Given the description of an element on the screen output the (x, y) to click on. 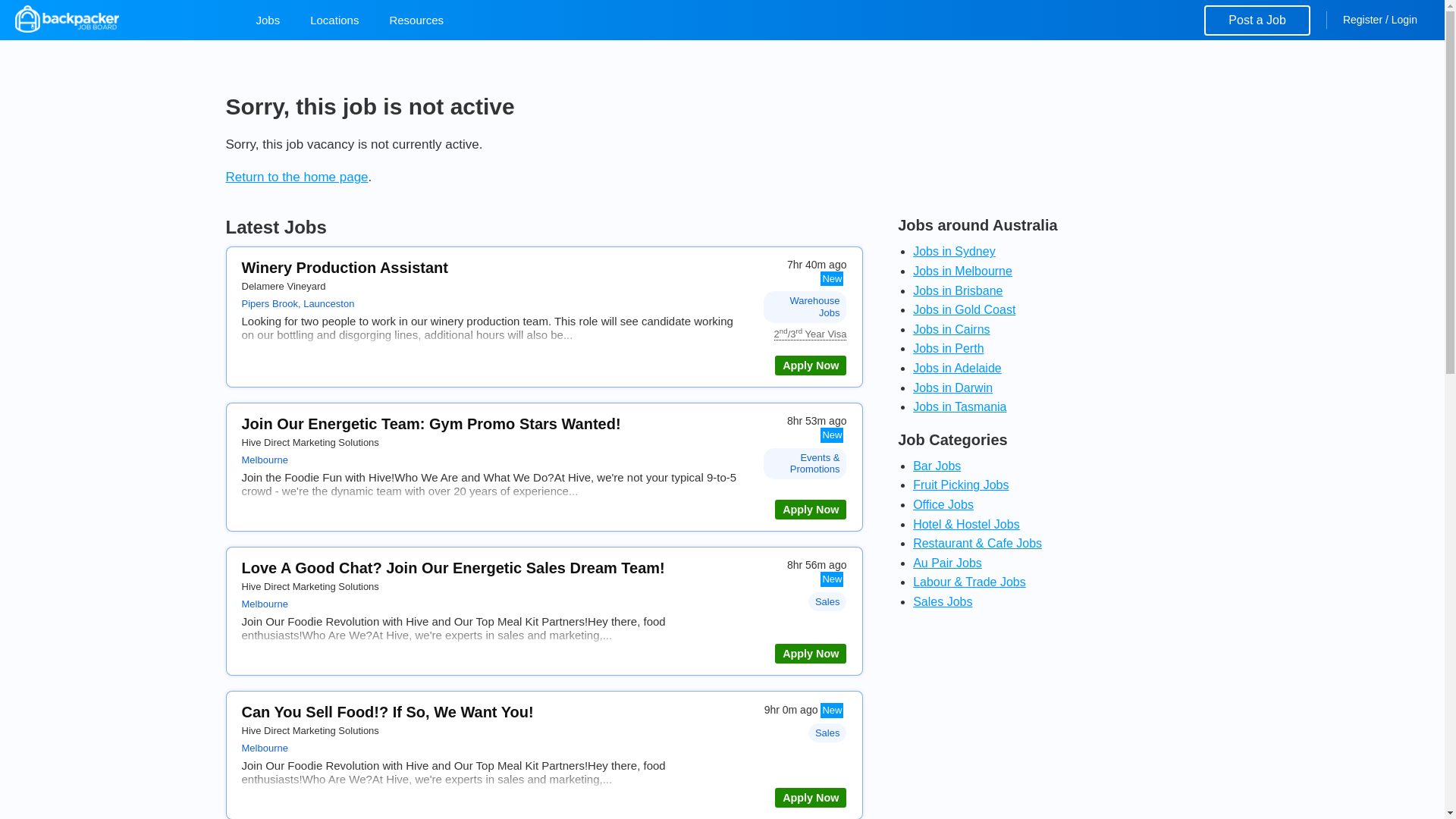
Jobs in Cairns (951, 328)
Bar Jobs (936, 465)
Can You Sell Food!? If So, We Want You! (386, 711)
Login (1403, 19)
Return to the home page (296, 176)
Jobs in Adelaide (956, 367)
Winery Production Assistant (809, 365)
Jobs in Brisbane (957, 290)
Winery Production Assistant (343, 267)
Resources (416, 20)
